Given the description of an element on the screen output the (x, y) to click on. 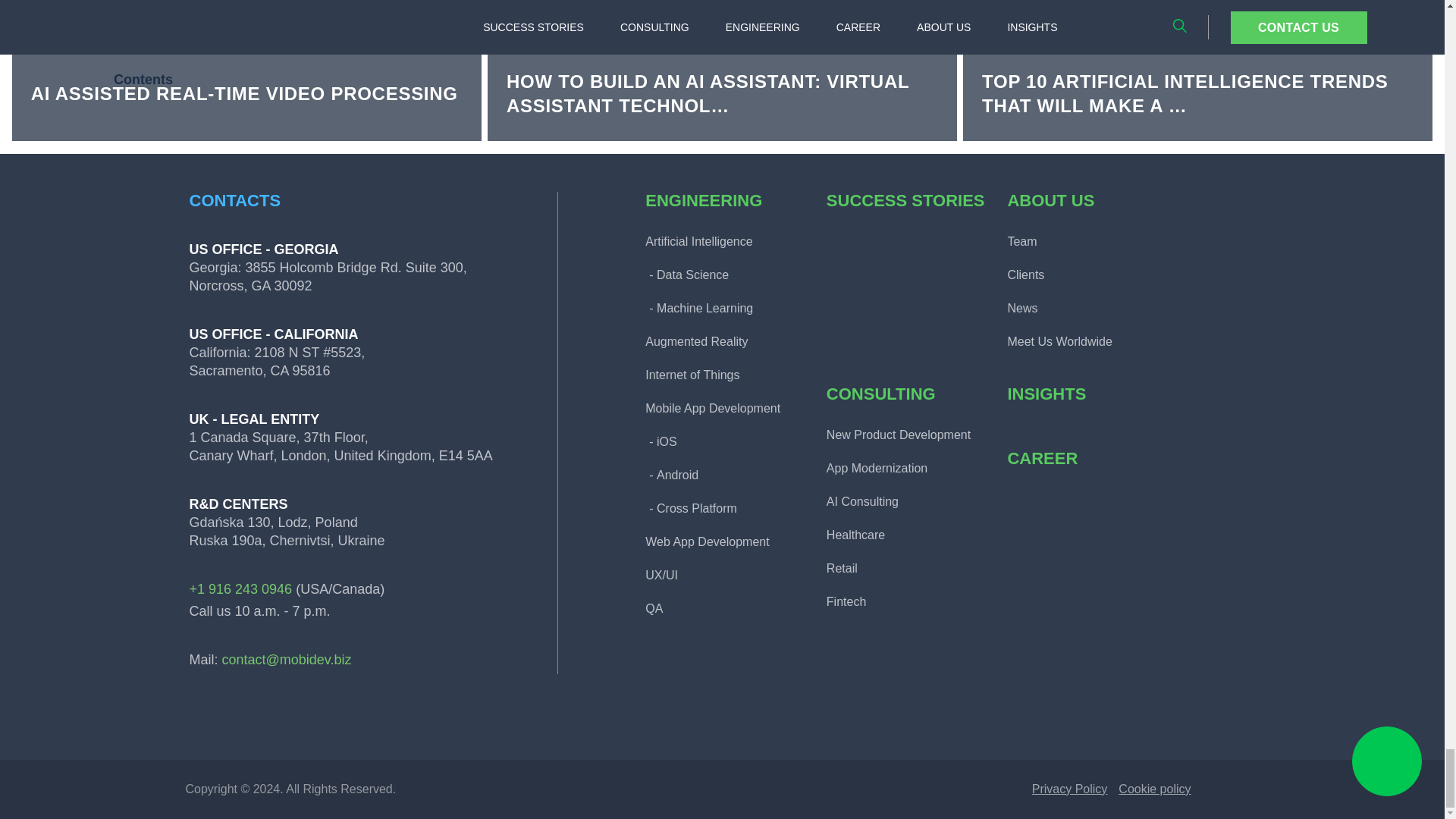
Artificial Intelligence Technology (1197, 70)
clutch (427, 717)
facebook (262, 717)
Real-time Video Processing with AI (246, 70)
twitter (316, 717)
upwork (371, 717)
ai-assistant-technology (721, 70)
linkedin (207, 717)
